Given the description of an element on the screen output the (x, y) to click on. 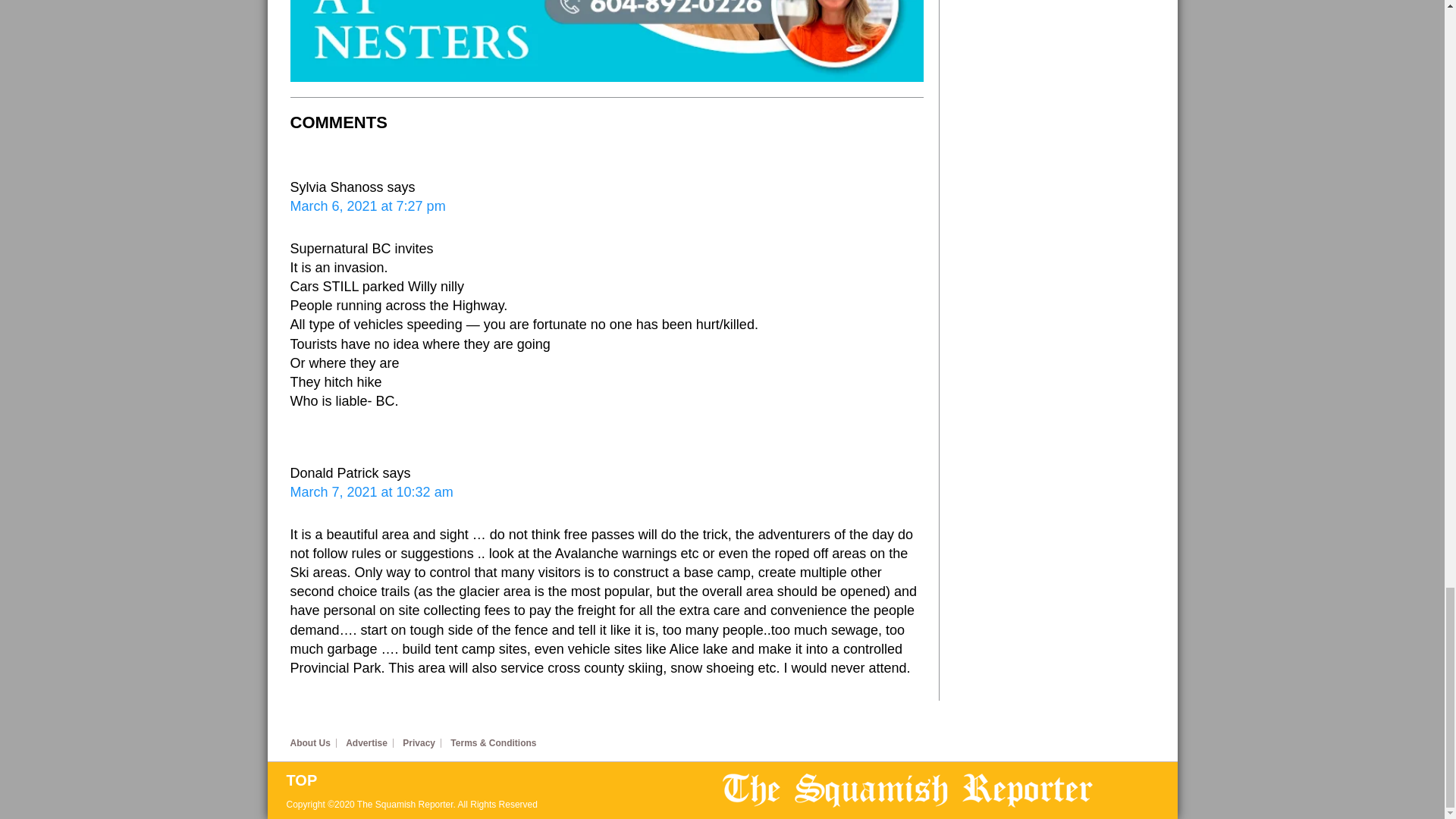
Back To Top (504, 780)
March 7, 2021 at 10:32 am (370, 491)
March 6, 2021 at 7:27 pm (367, 206)
Advertise (369, 742)
About Us (312, 742)
